Given the description of an element on the screen output the (x, y) to click on. 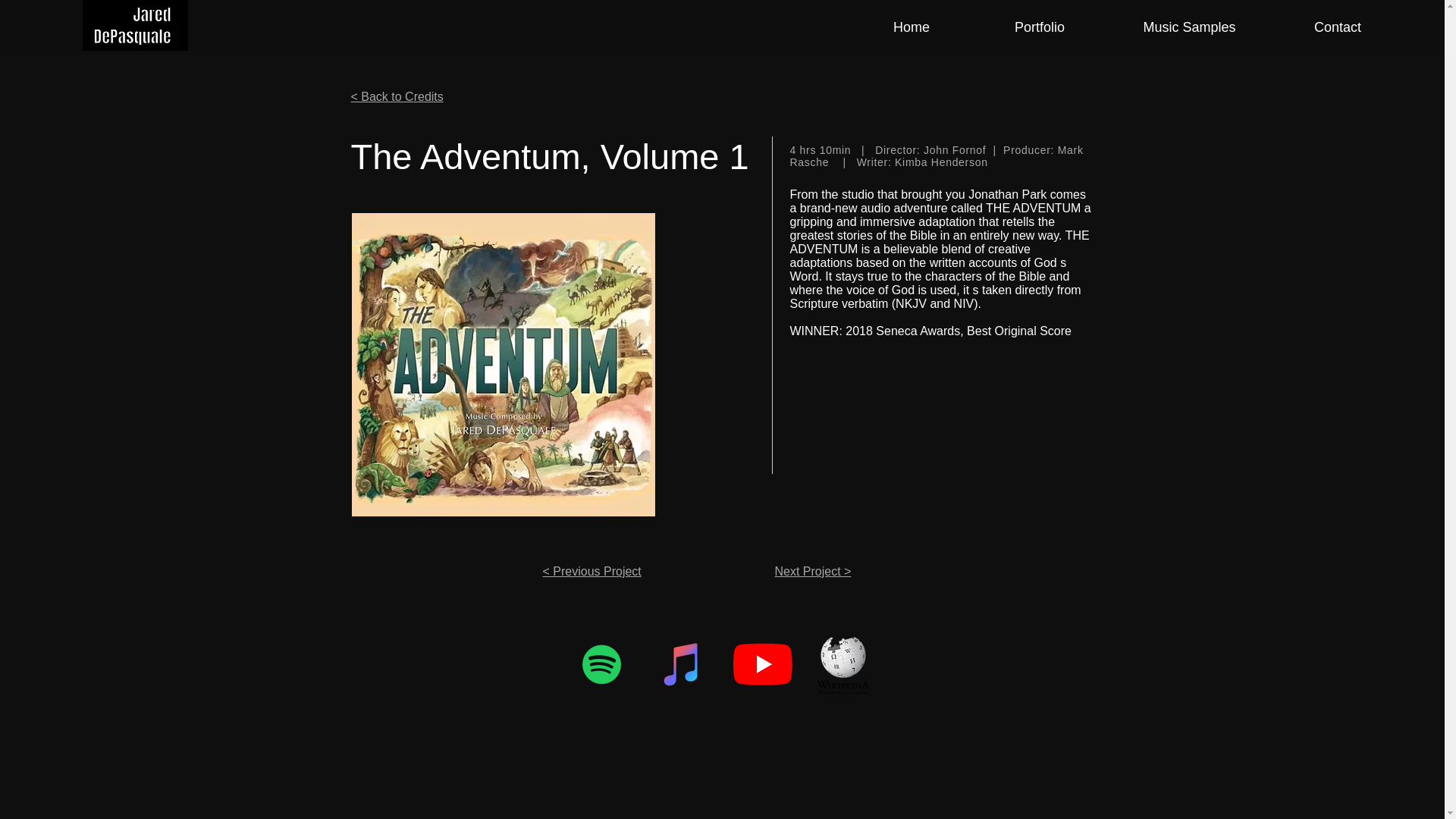
Home (911, 26)
Contact (1337, 26)
Music Samples (1189, 26)
